Given the description of an element on the screen output the (x, y) to click on. 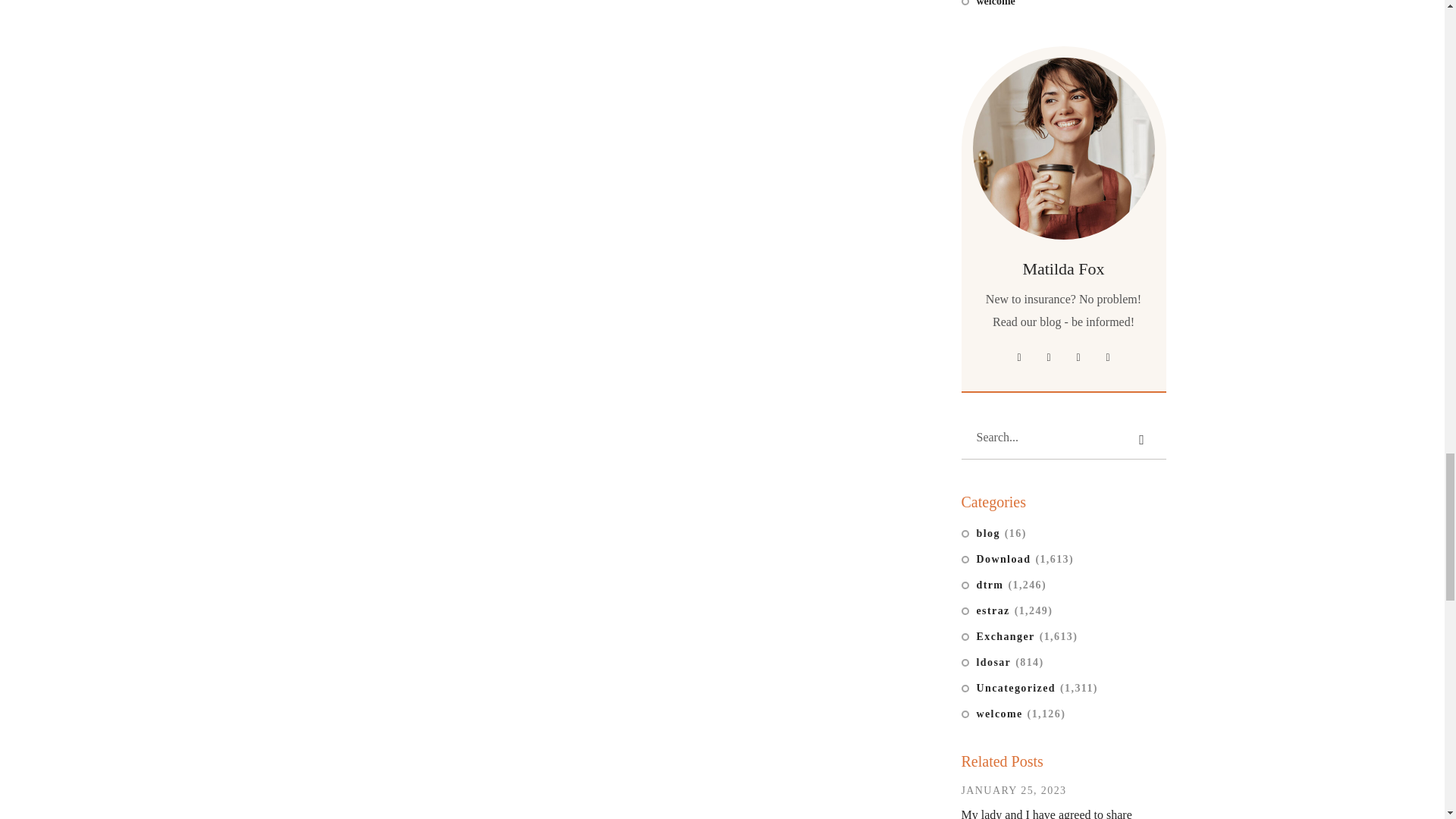
Search (1141, 437)
Search (1141, 437)
